Given the description of an element on the screen output the (x, y) to click on. 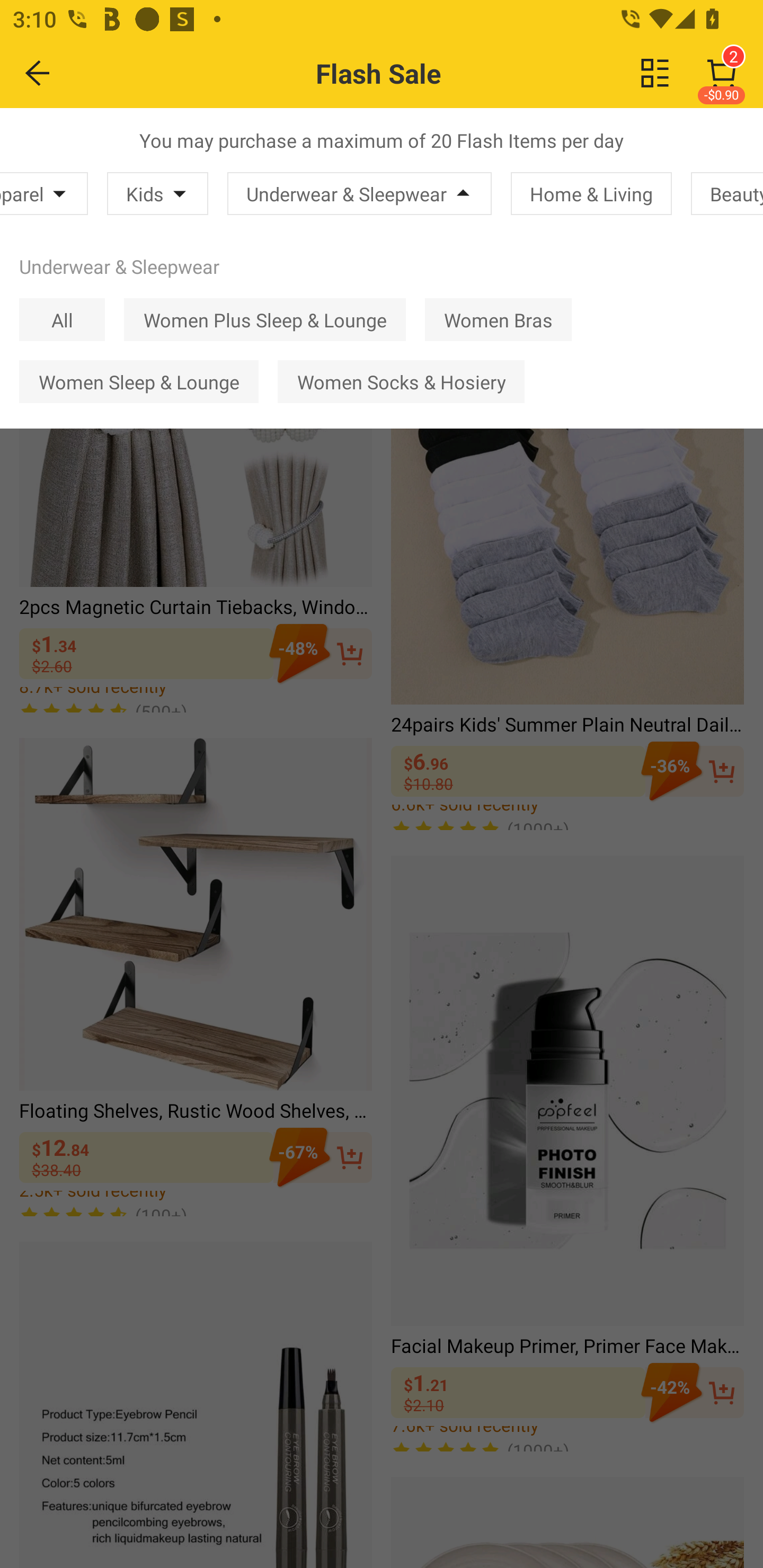
Flash Sale change view 2 -$0.90 (419, 72)
2 -$0.90 (721, 72)
change view (654, 72)
BACK (38, 72)
Men Apparel (43, 193)
Kids (157, 193)
Underwear & Sleepwear (359, 193)
Home & Living (591, 193)
